Given the description of an element on the screen output the (x, y) to click on. 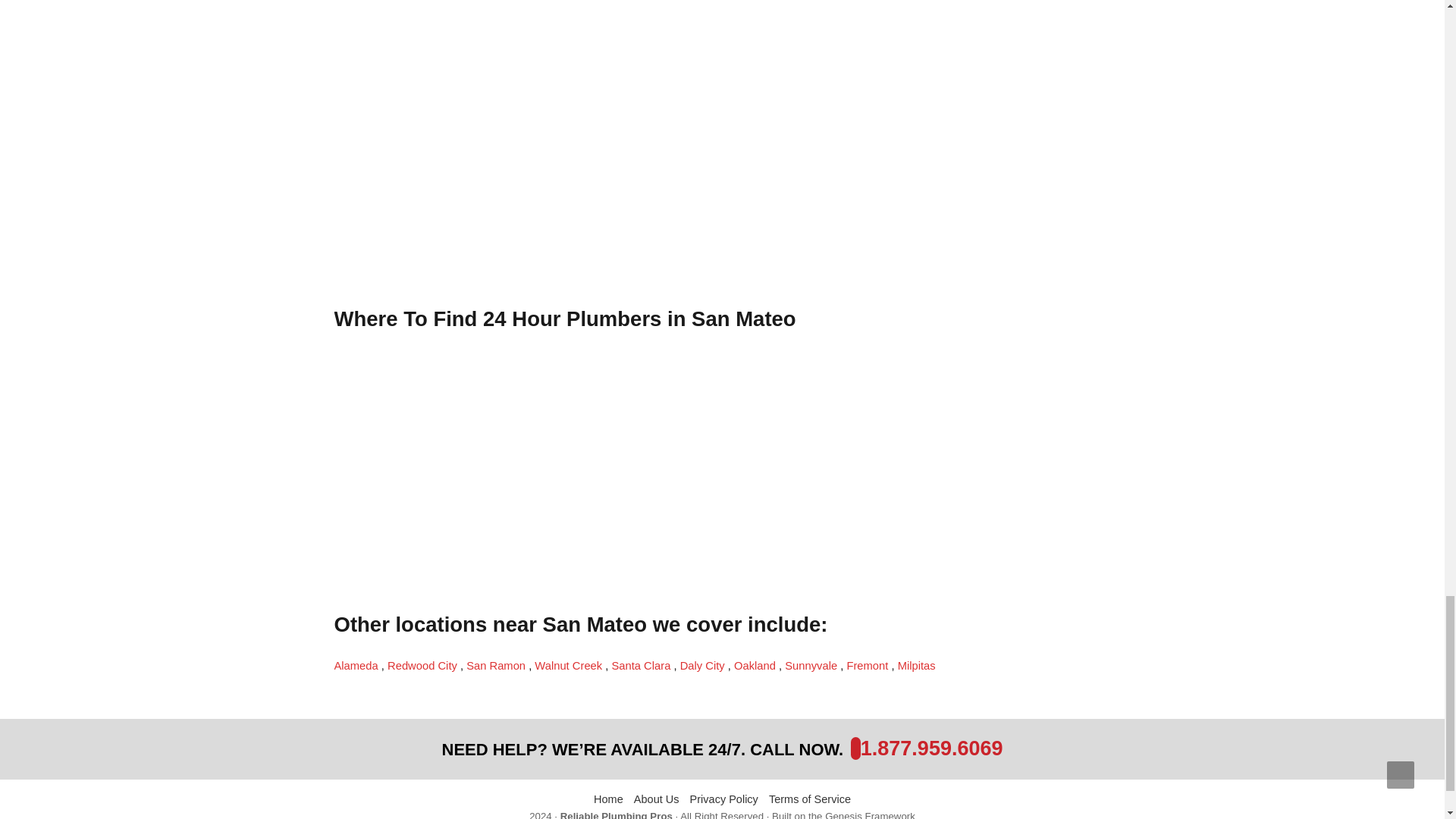
Plumbing in Fremont (868, 665)
Plumbing Santa Clara (641, 665)
1.877.959.6069 (931, 748)
Milpitas (917, 665)
Plumbing Sunnyvale, CA (812, 665)
Oakland (755, 665)
Privacy Policy (724, 799)
Plumbing in San Ramon, CA (496, 665)
Reliable Plumbing Pros (616, 814)
Walnut Creek (569, 665)
